Given the description of an element on the screen output the (x, y) to click on. 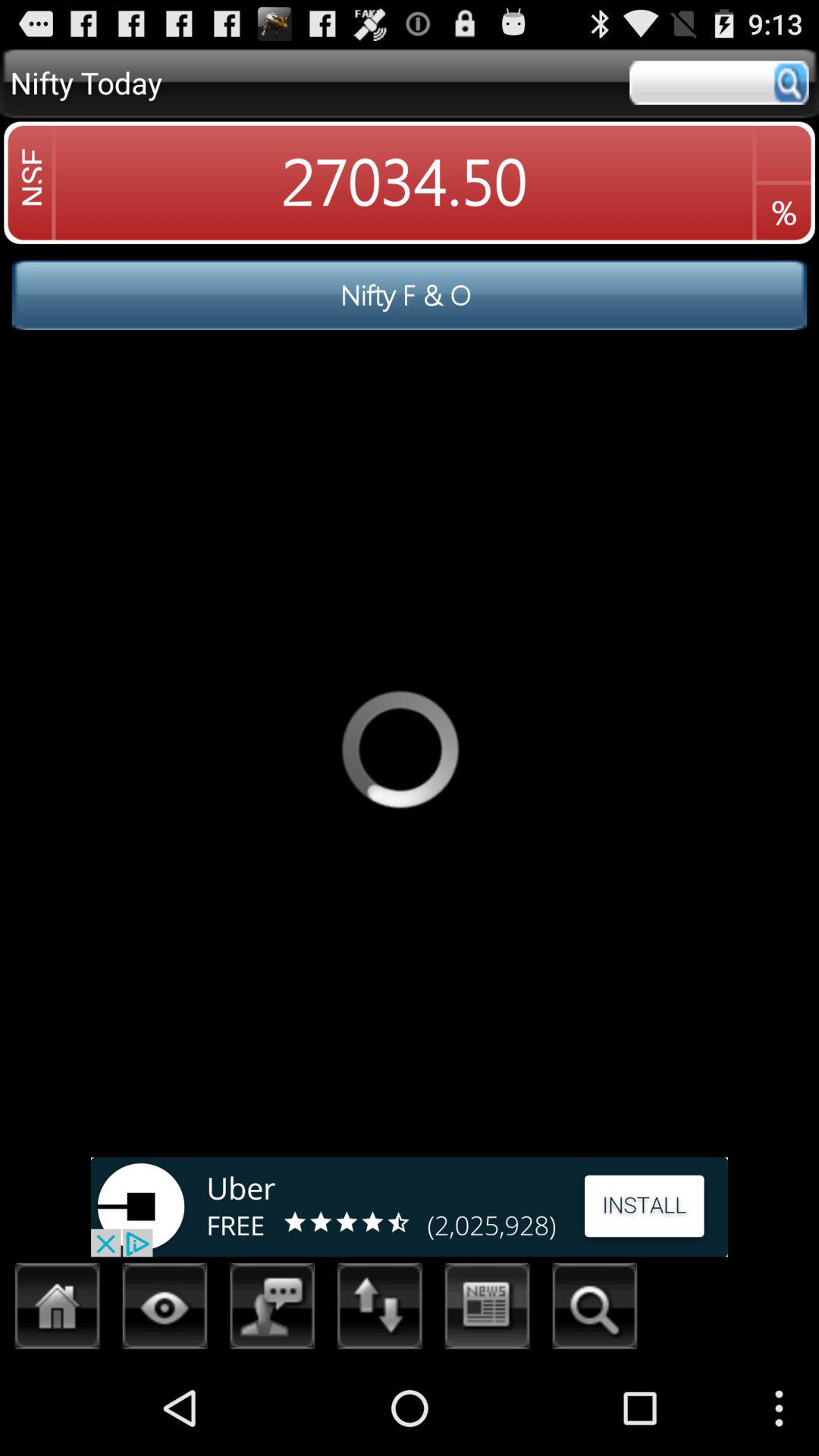
search (718, 82)
